Given the description of an element on the screen output the (x, y) to click on. 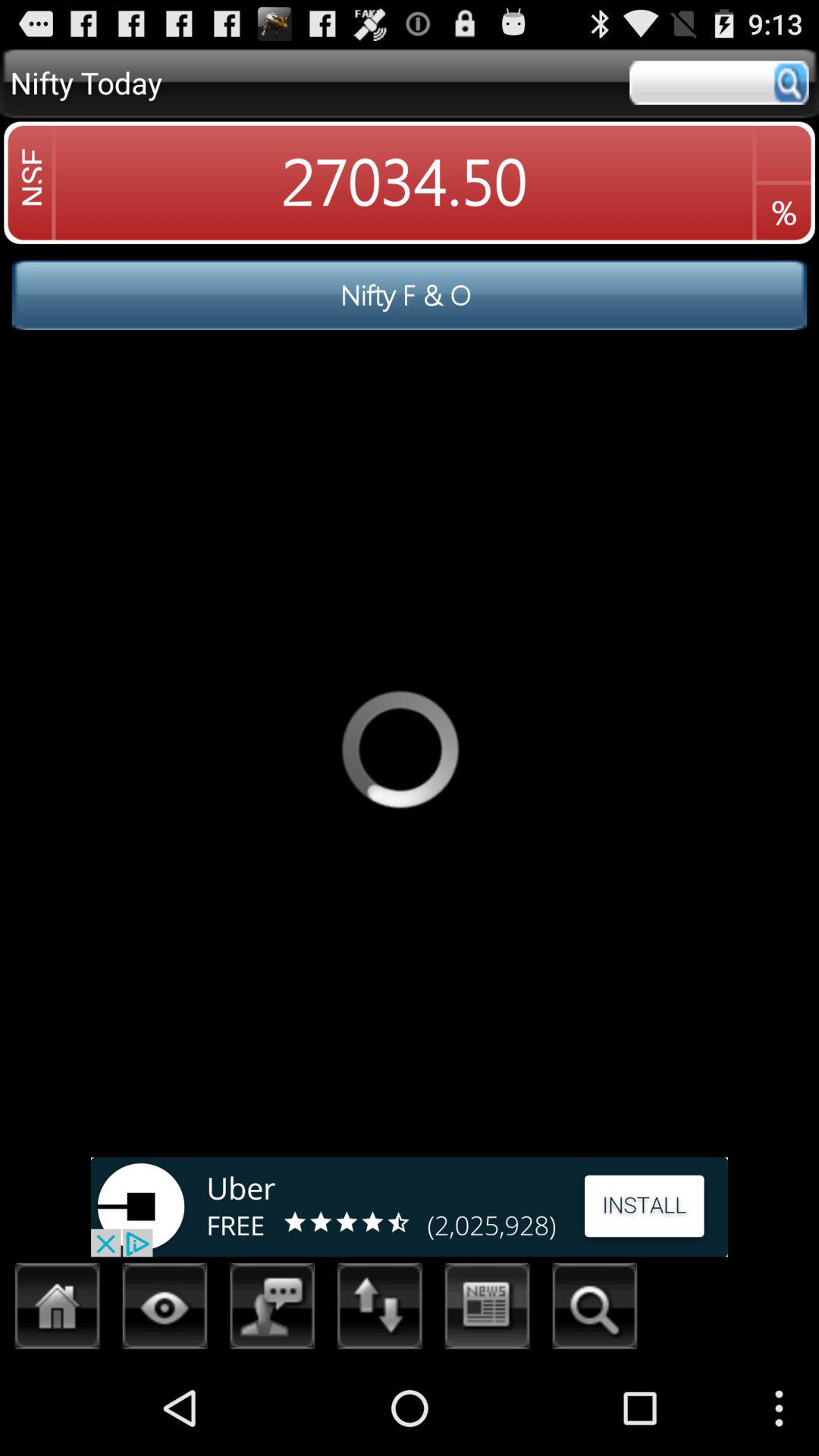
search (718, 82)
